Given the description of an element on the screen output the (x, y) to click on. 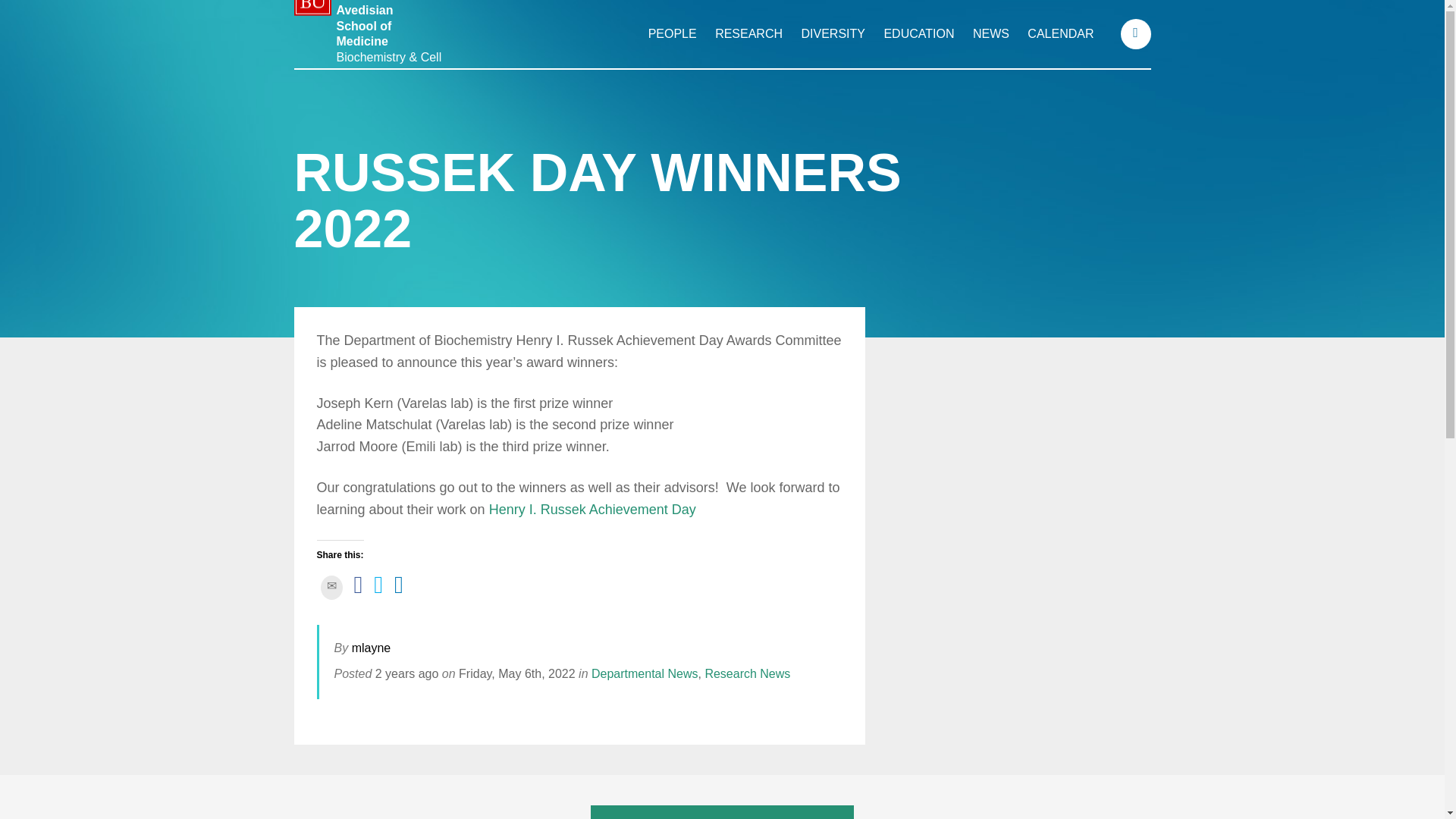
DIVERSITY (832, 33)
EDUCATION (918, 33)
CALENDAR (1060, 33)
Click to email this to a friend (331, 587)
Research News (747, 673)
Navigate to: Research (748, 33)
RESEARCH (748, 33)
Henry I. Russek Achievement Day (592, 509)
Navigate to: Diversity (832, 33)
Navigate to: Education (918, 33)
Departmental News (644, 673)
